Given the description of an element on the screen output the (x, y) to click on. 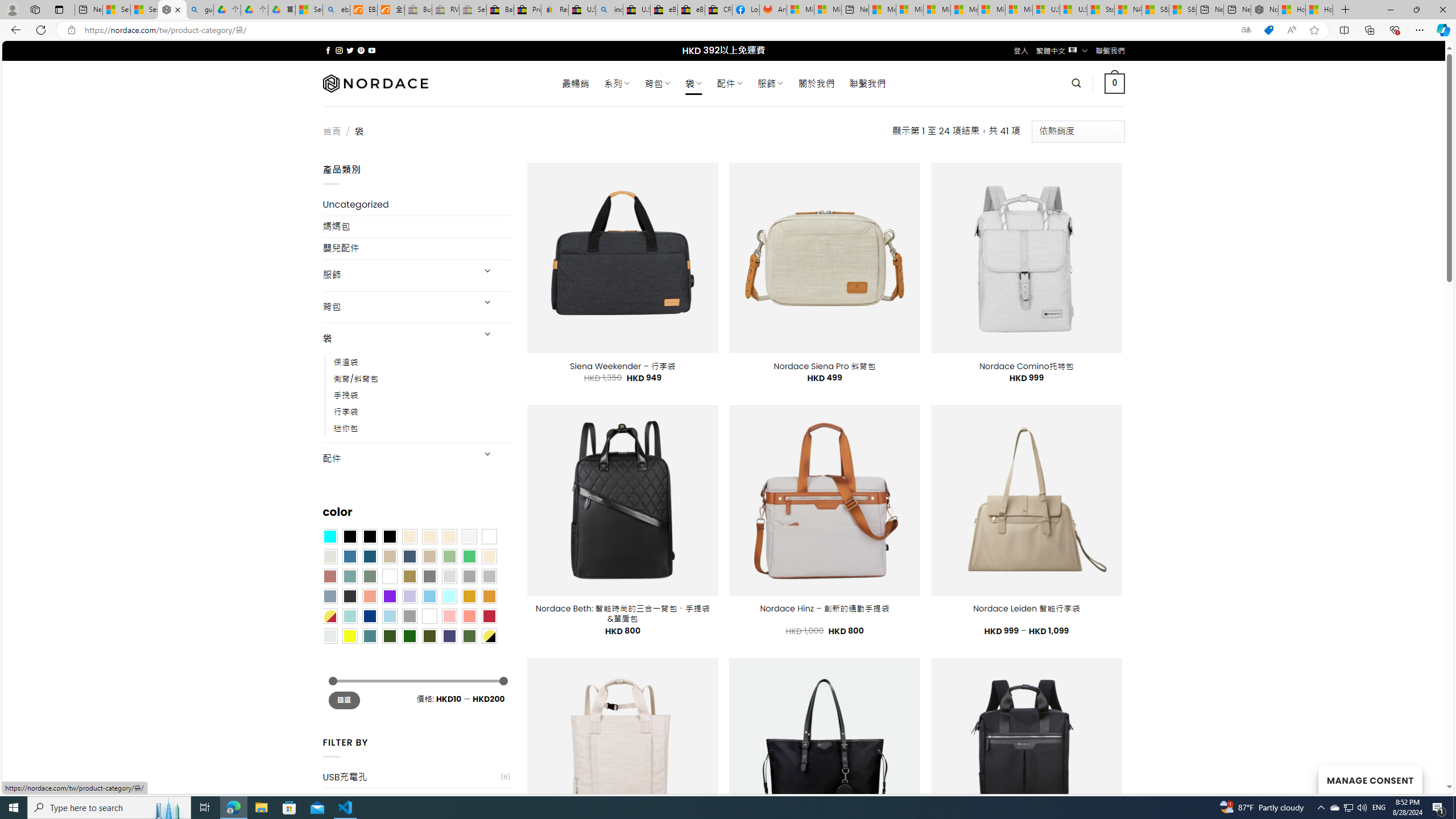
Register: Create a personal eBay account (554, 9)
Uncategorized (416, 204)
